Given the description of an element on the screen output the (x, y) to click on. 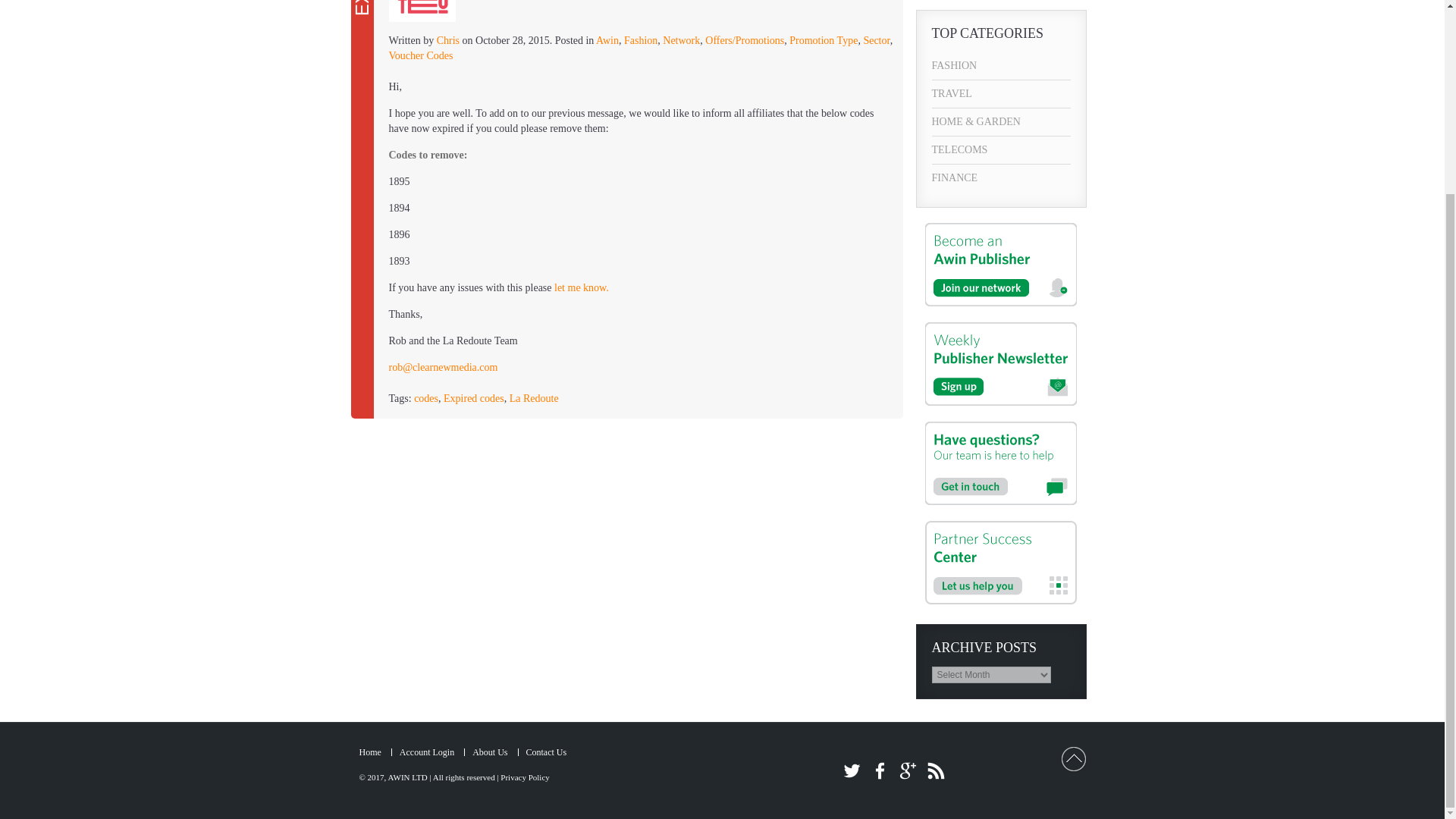
FINANCE (1000, 177)
TRAVEL (1000, 93)
Expired codes (473, 398)
Voucher Codes (420, 55)
codes (425, 398)
FASHION (1000, 65)
Chris (448, 40)
TELECOMS (1000, 149)
Sector (876, 40)
Network (681, 40)
Fashion (641, 40)
La Redoute (534, 398)
Promotion Type (823, 40)
let me know. (581, 287)
Awin (606, 40)
